Given the description of an element on the screen output the (x, y) to click on. 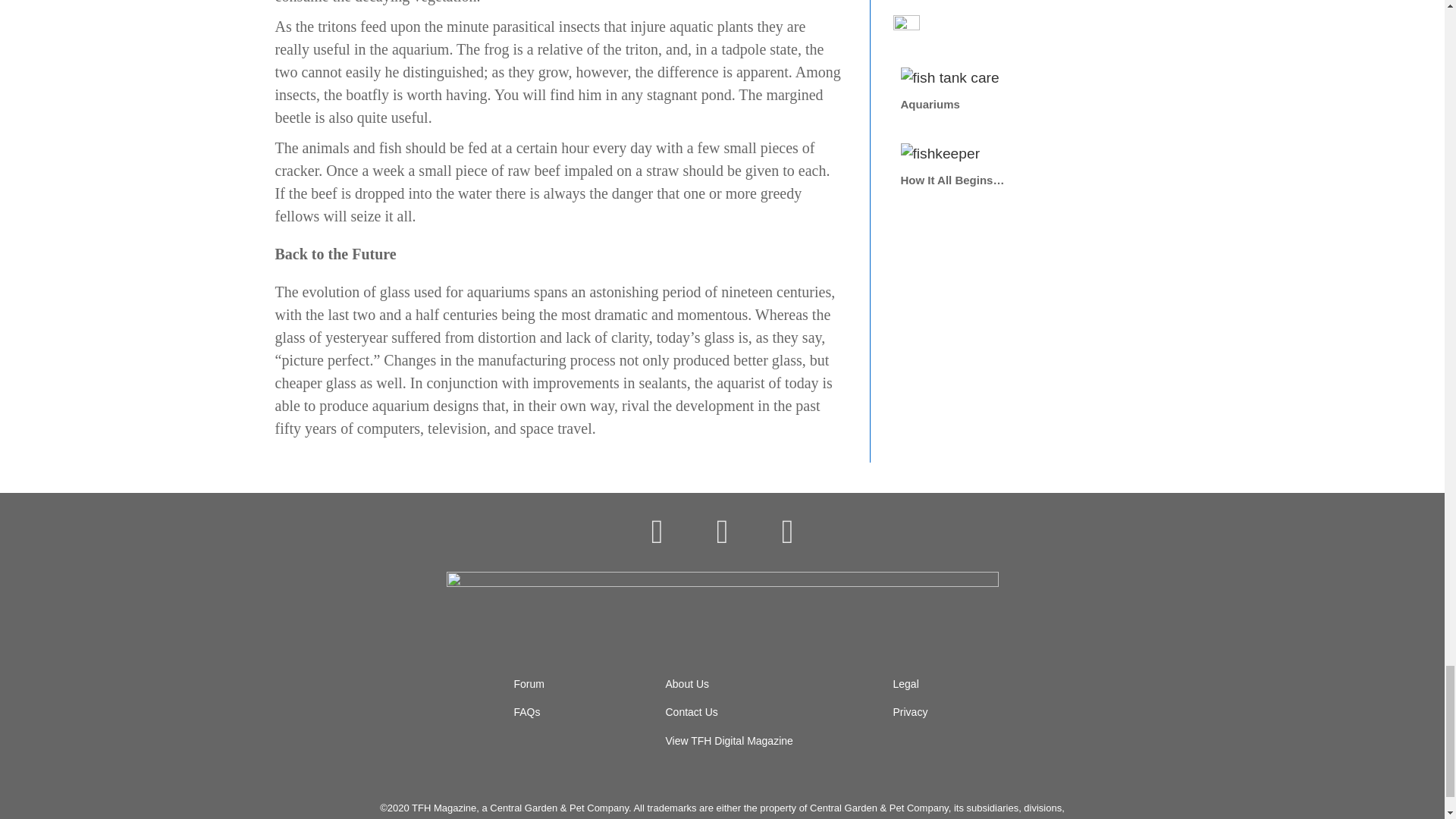
Contact Us (691, 711)
View TFH Digital Magazine (729, 740)
FAQs (526, 711)
Privacy (910, 711)
Forum (528, 684)
About Us (687, 684)
Legal (905, 684)
